Given the description of an element on the screen output the (x, y) to click on. 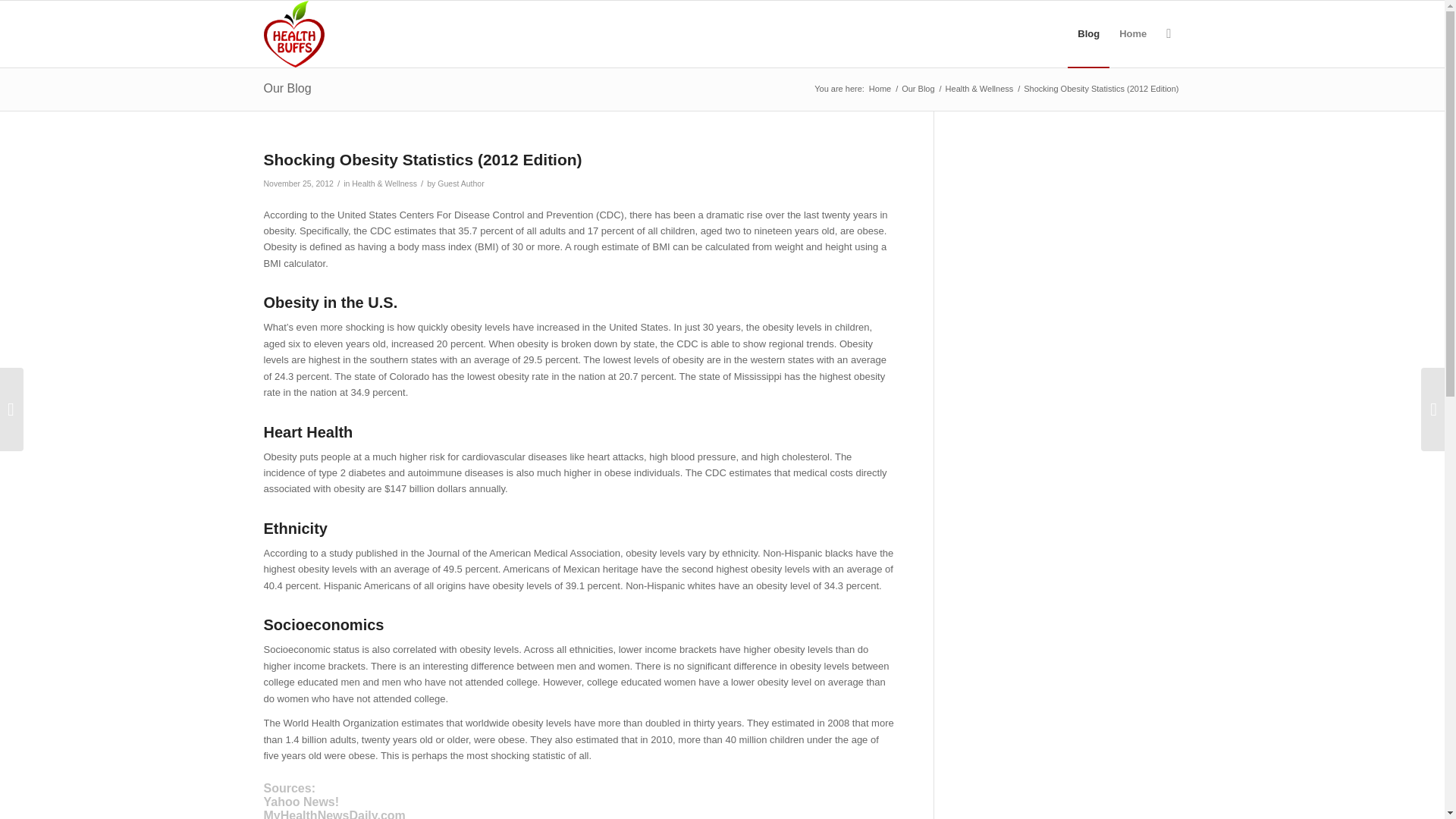
Posts by Guest Author (460, 183)
Permanent Link: Our Blog (287, 88)
Home (879, 89)
Our Blog (917, 89)
Our Blog (917, 89)
Our Blog (287, 88)
Guest Author (460, 183)
HealthBuffs.com (879, 89)
HB LOGO Inkscape-r67 (293, 33)
